Given the description of an element on the screen output the (x, y) to click on. 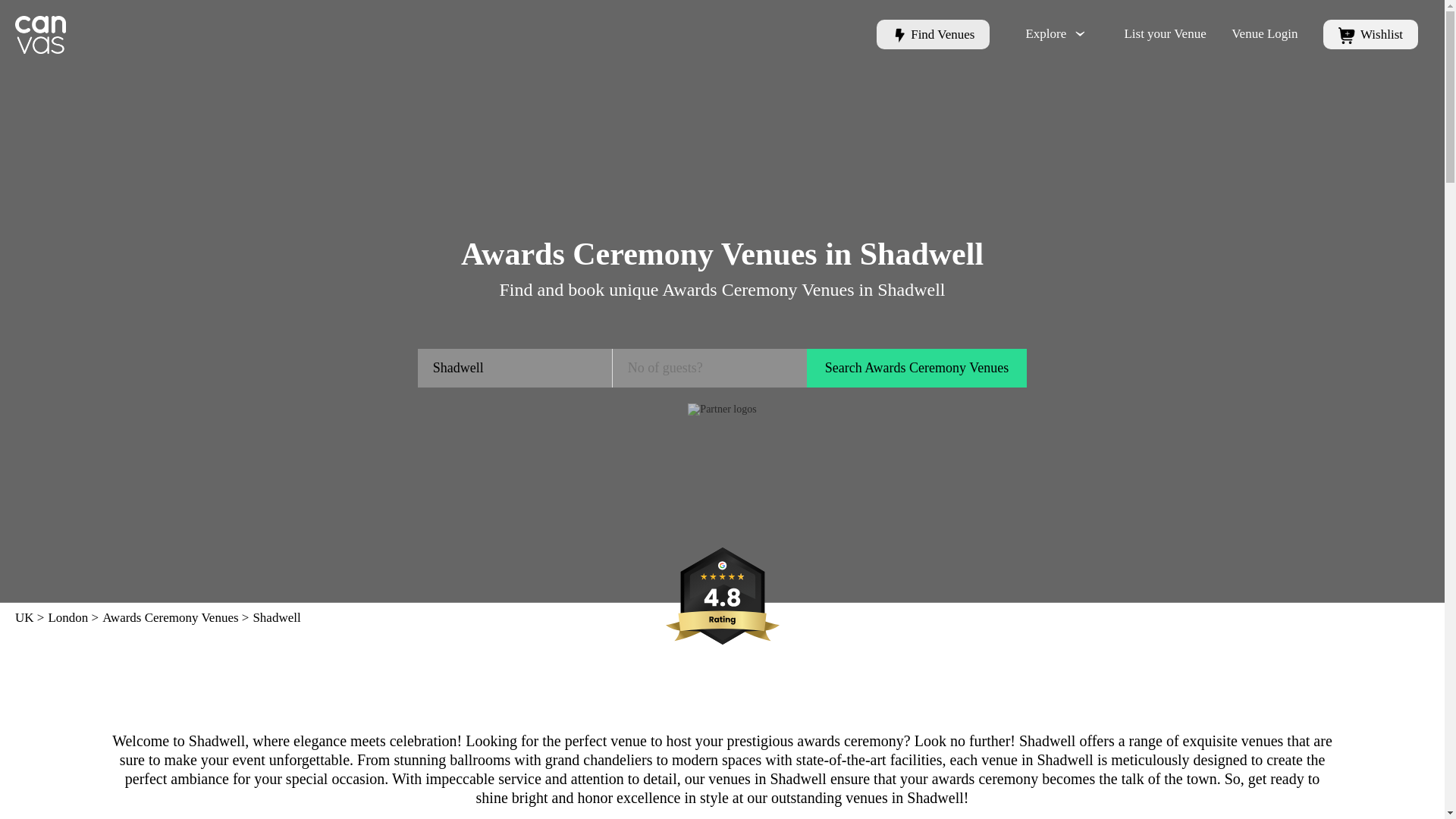
Find Venues (933, 34)
Venue Login (1264, 33)
Wishlist (1370, 34)
Shadwell (514, 367)
List your Venue (1164, 33)
